Given the description of an element on the screen output the (x, y) to click on. 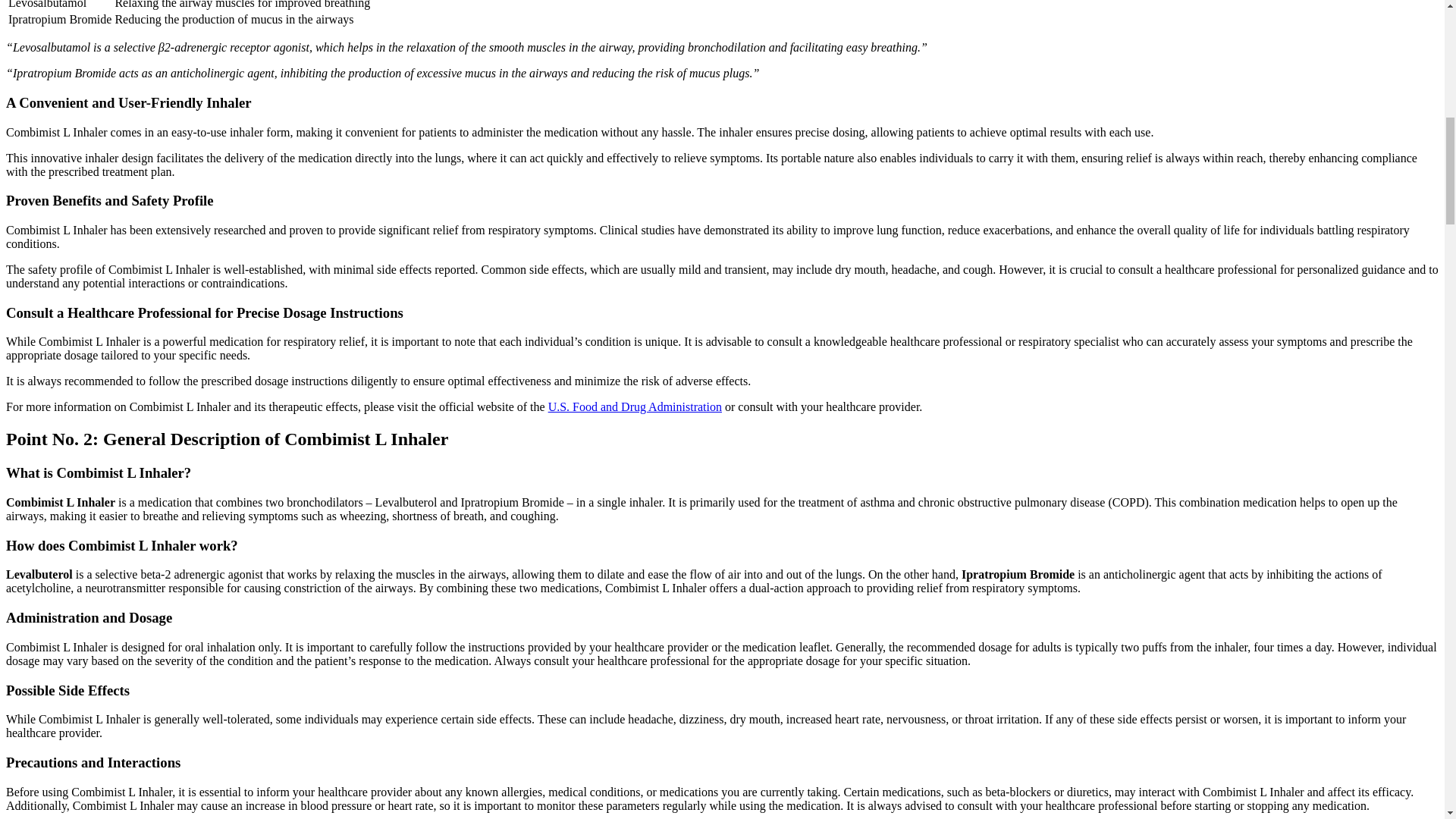
U.S. Food and Drug Administration (635, 406)
